Given the description of an element on the screen output the (x, y) to click on. 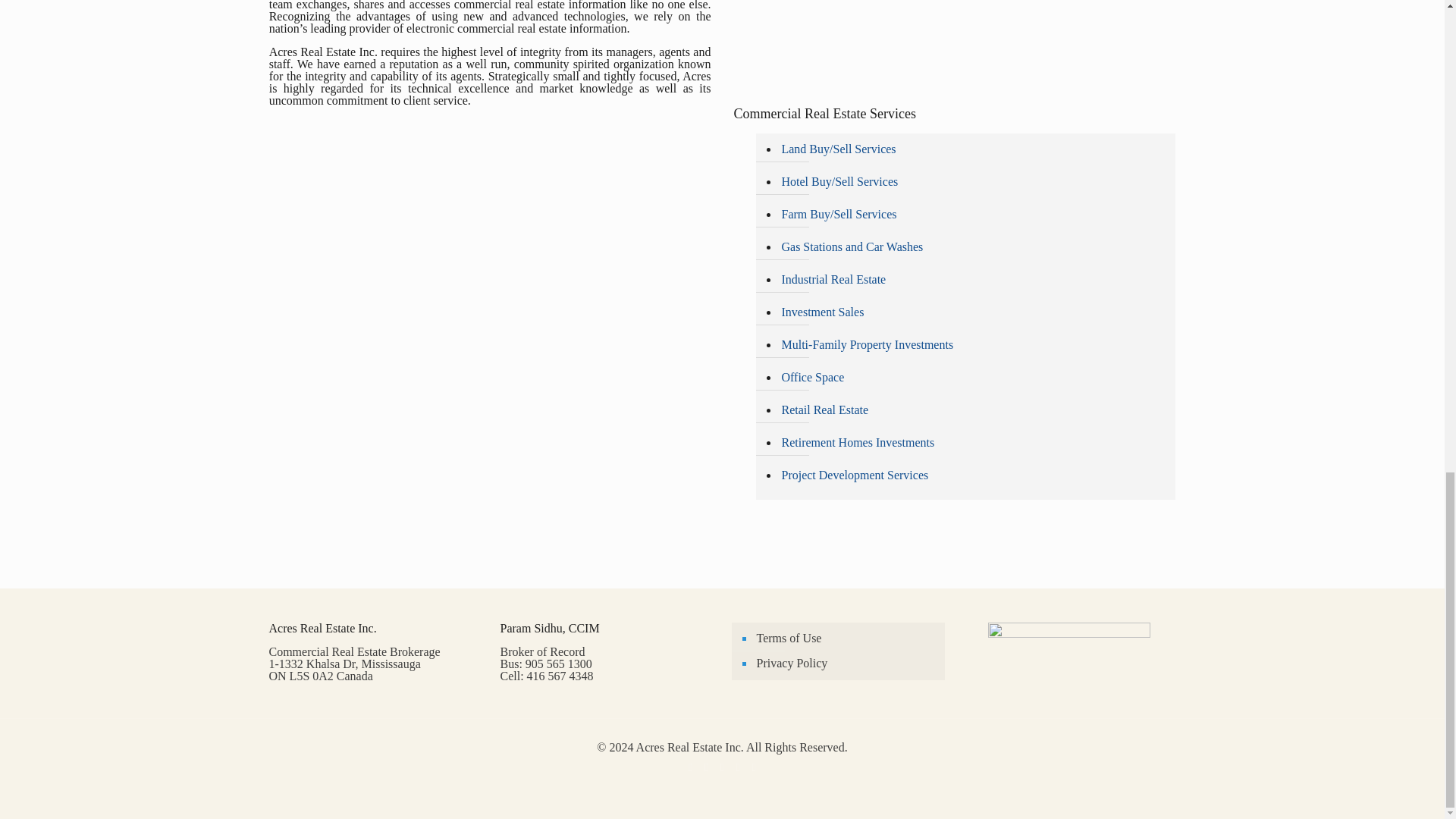
Facebook (689, 767)
Instagram (754, 767)
YouTube (722, 767)
LinkedIn (738, 767)
Wistia video player (953, 39)
